Given the description of an element on the screen output the (x, y) to click on. 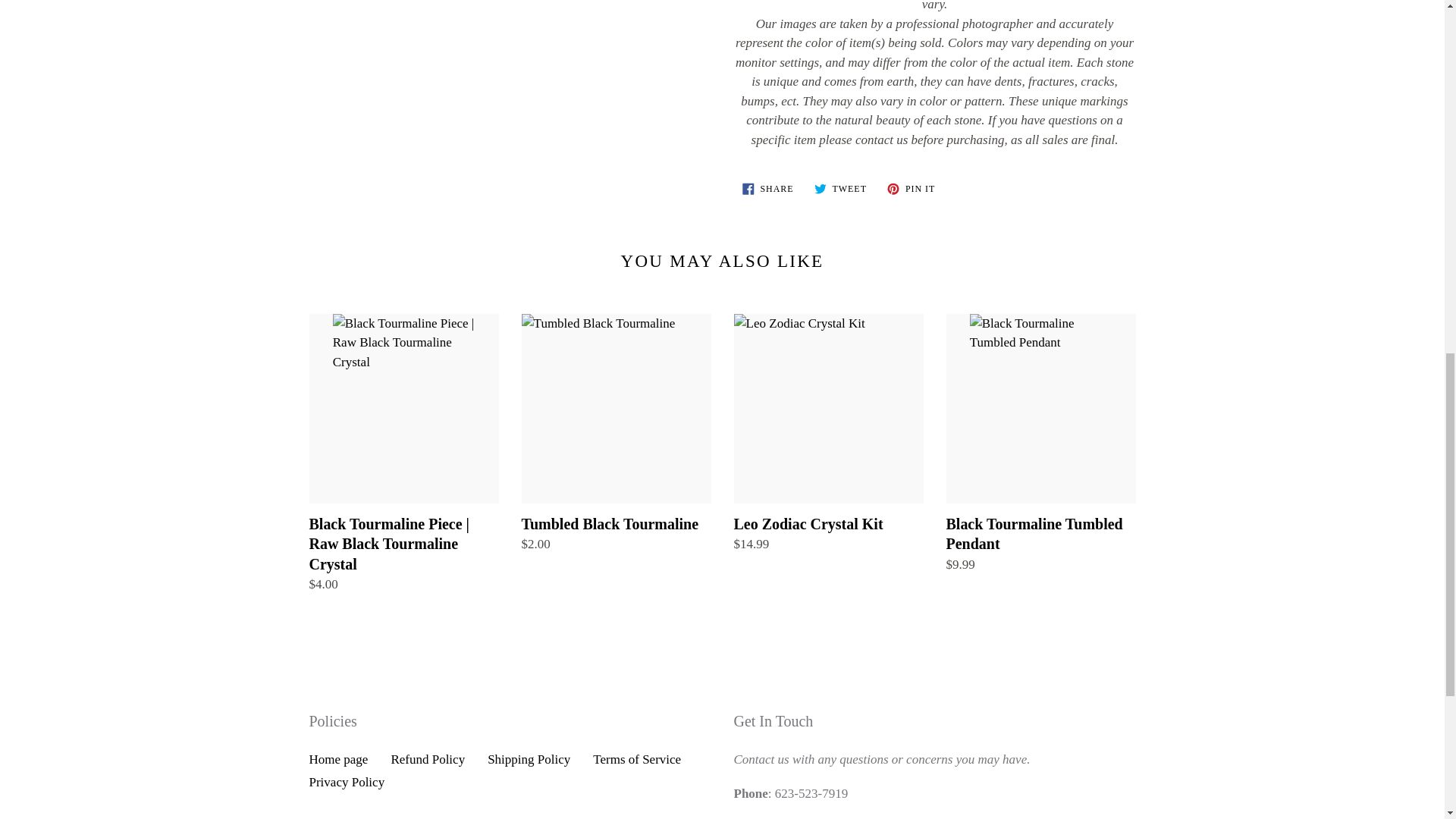
Home page (840, 188)
Shipping Policy (767, 188)
Refund Policy (911, 188)
